Given the description of an element on the screen output the (x, y) to click on. 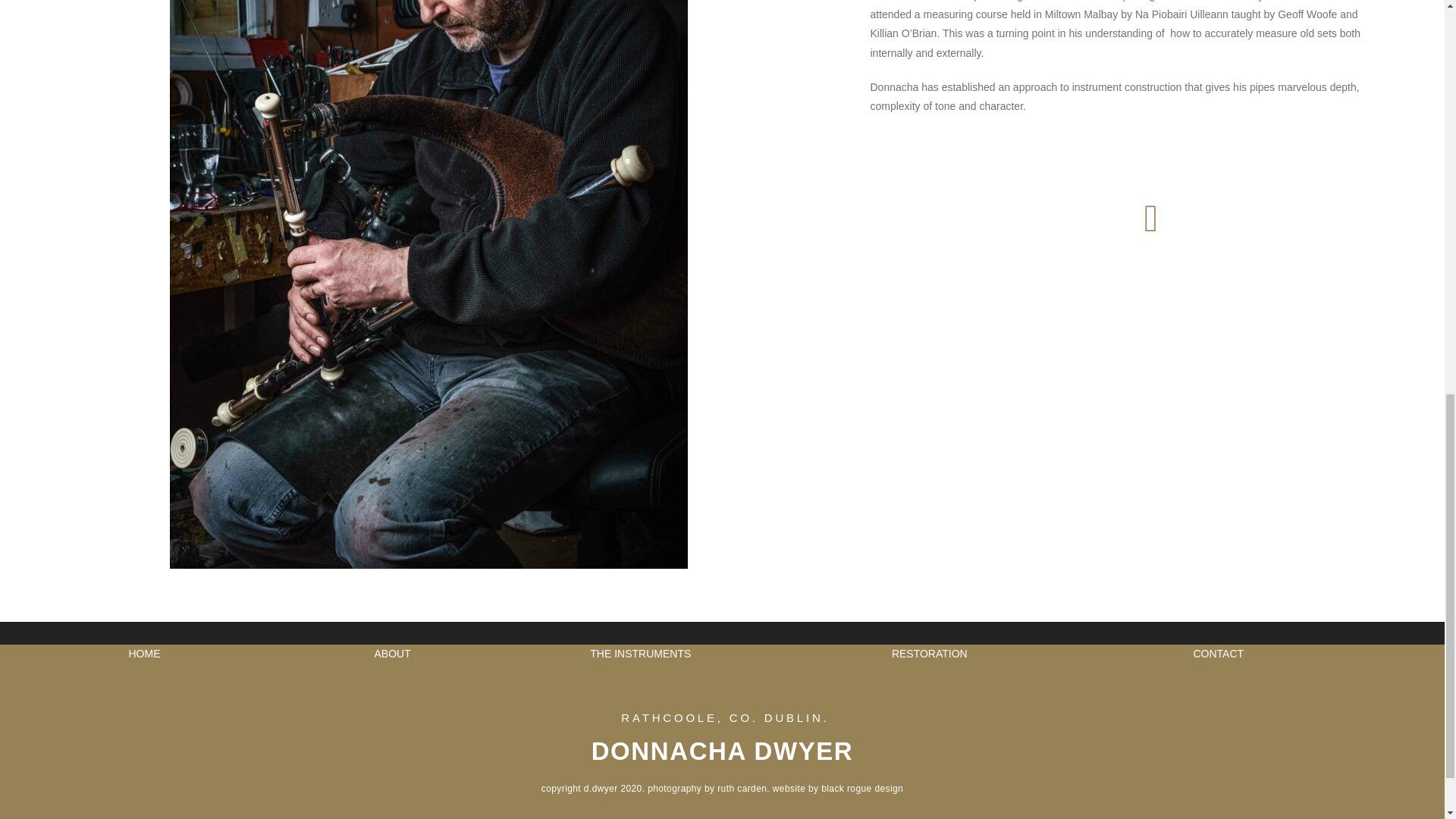
THE INSTRUMENTS (639, 653)
HOME (144, 653)
CONTACT (1217, 653)
RESTORATION (929, 653)
ABOUT (392, 653)
